Given the description of an element on the screen output the (x, y) to click on. 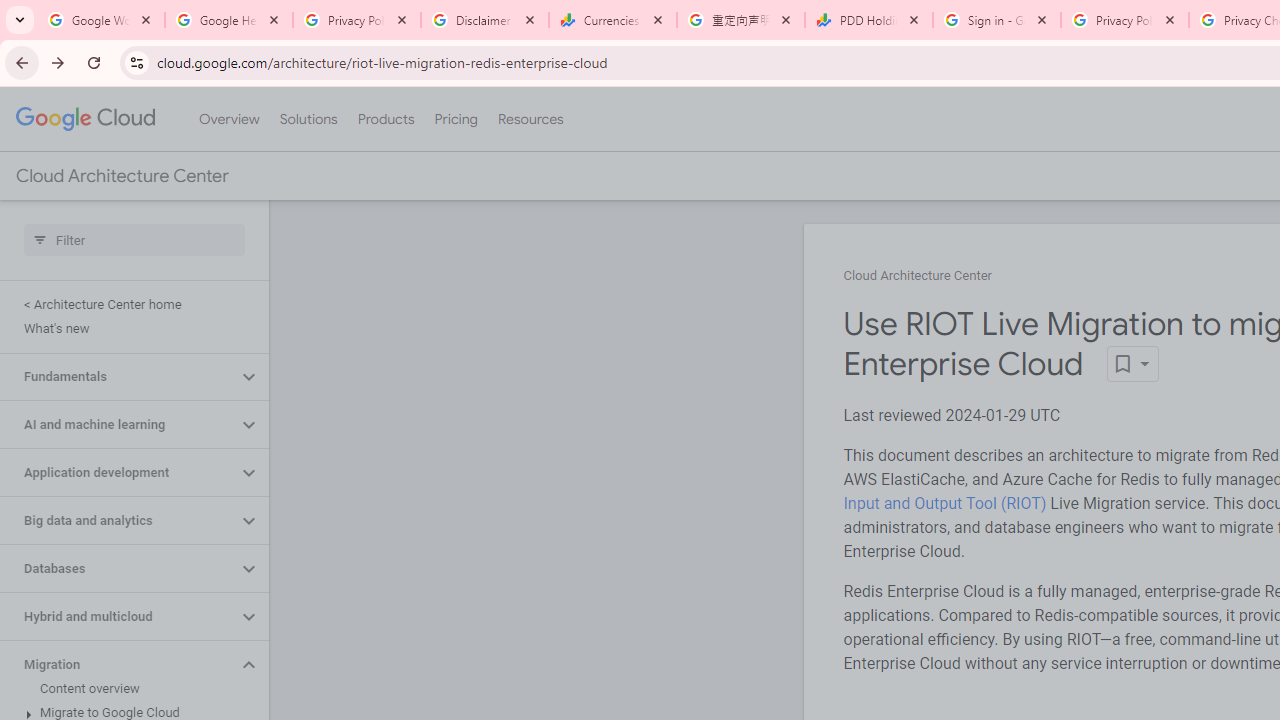
Solutions (308, 119)
Application development (118, 472)
Type to filter (134, 239)
AI and machine learning (118, 425)
